Given the description of an element on the screen output the (x, y) to click on. 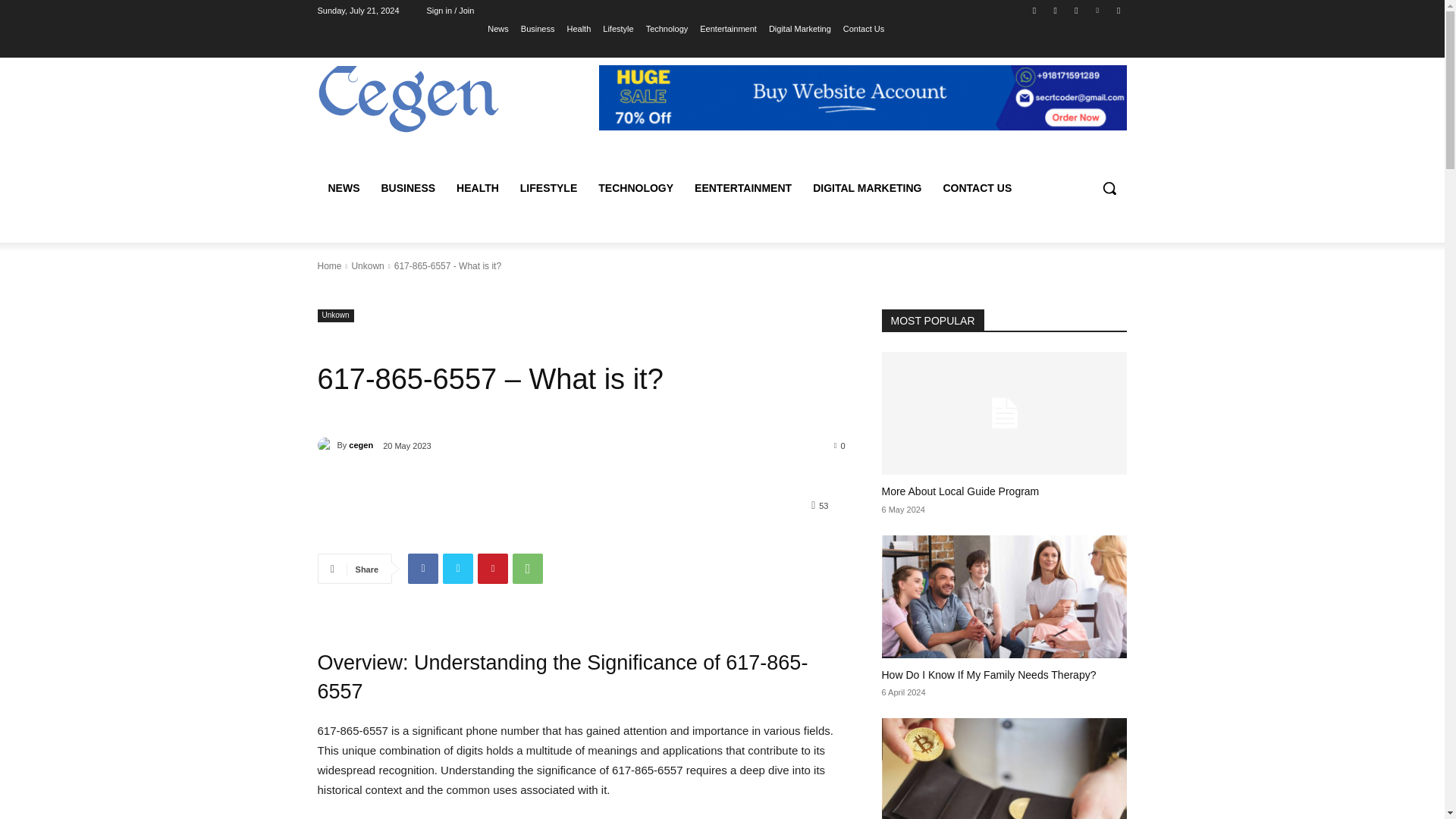
View all posts in Unkown (367, 266)
Twitter (457, 568)
Lifestyle (617, 28)
Facebook (1034, 9)
WhatsApp (527, 568)
Technology (667, 28)
Instagram (1055, 9)
Facebook (422, 568)
Pinterest (492, 568)
Contact Us (863, 28)
DIGITAL MARKETING (866, 187)
cegen (326, 444)
News (497, 28)
Health (578, 28)
Vimeo (1097, 9)
